Given the description of an element on the screen output the (x, y) to click on. 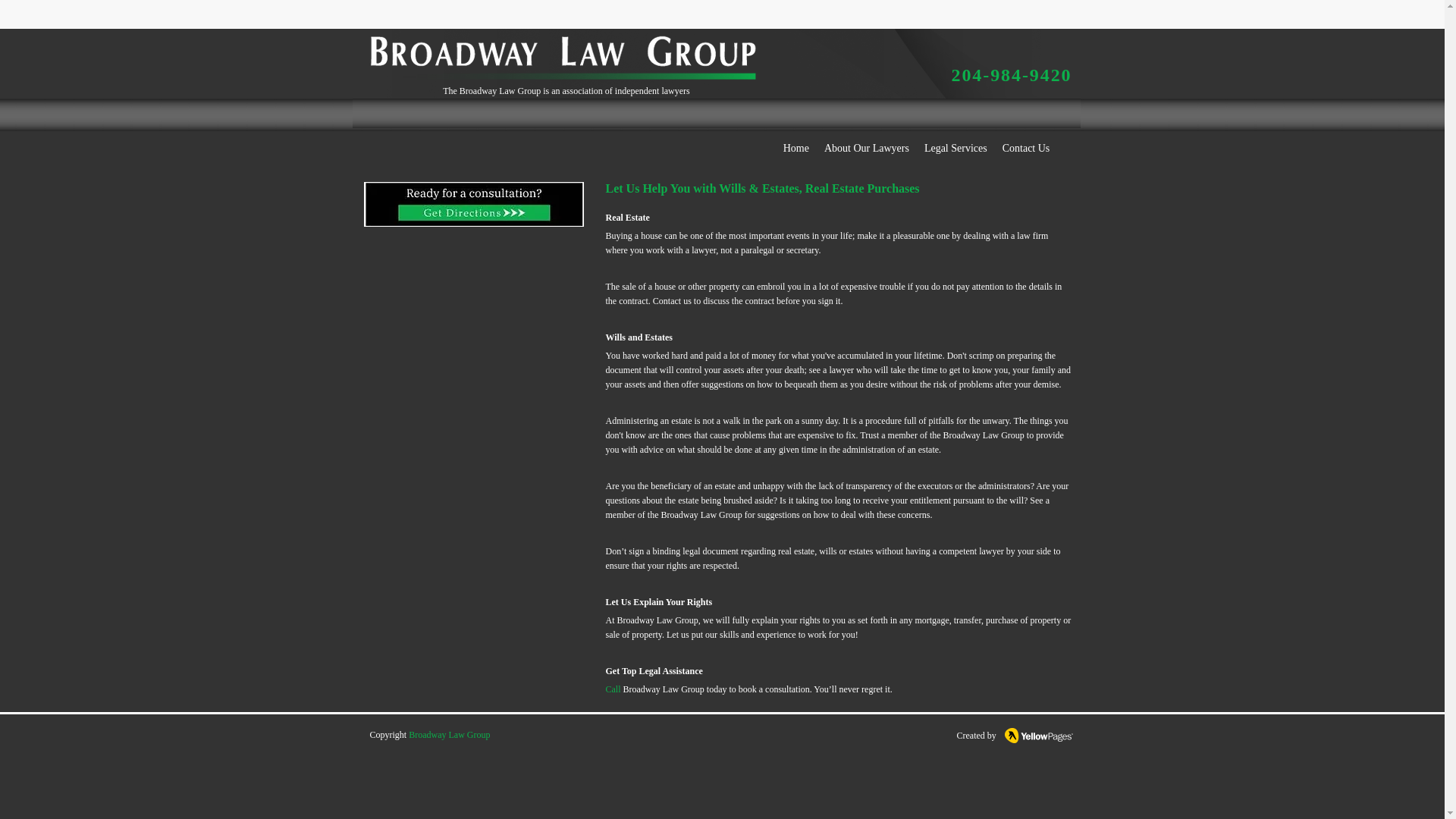
Broadway Law Group (449, 734)
Home (796, 146)
204-984-9420 (1010, 78)
Call (612, 689)
Legal Services (955, 146)
About Our Lawyers (866, 146)
Contact Us (1026, 146)
